Given the description of an element on the screen output the (x, y) to click on. 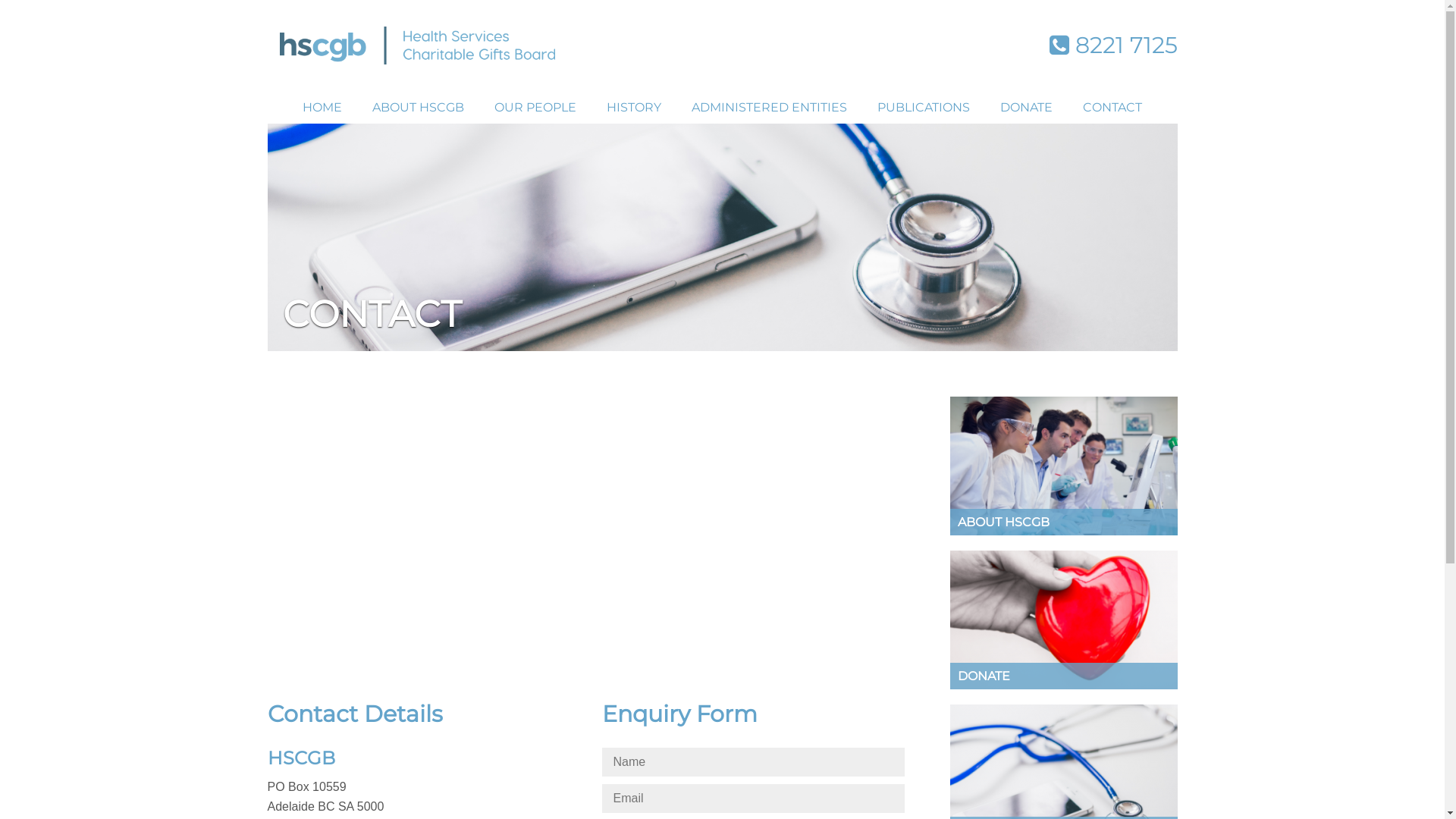
OUR PEOPLE Element type: text (535, 107)
ABOUT HSCGB Element type: text (1062, 465)
HISTORY Element type: text (633, 107)
DONATE Element type: text (1062, 619)
ABOUT HSCGB Element type: text (418, 107)
HOME Element type: text (322, 107)
CONTACT Element type: text (1112, 107)
PUBLICATIONS Element type: text (923, 107)
DONATE Element type: text (1026, 107)
ADMINISTERED ENTITIES Element type: text (769, 107)
